Given the description of an element on the screen output the (x, y) to click on. 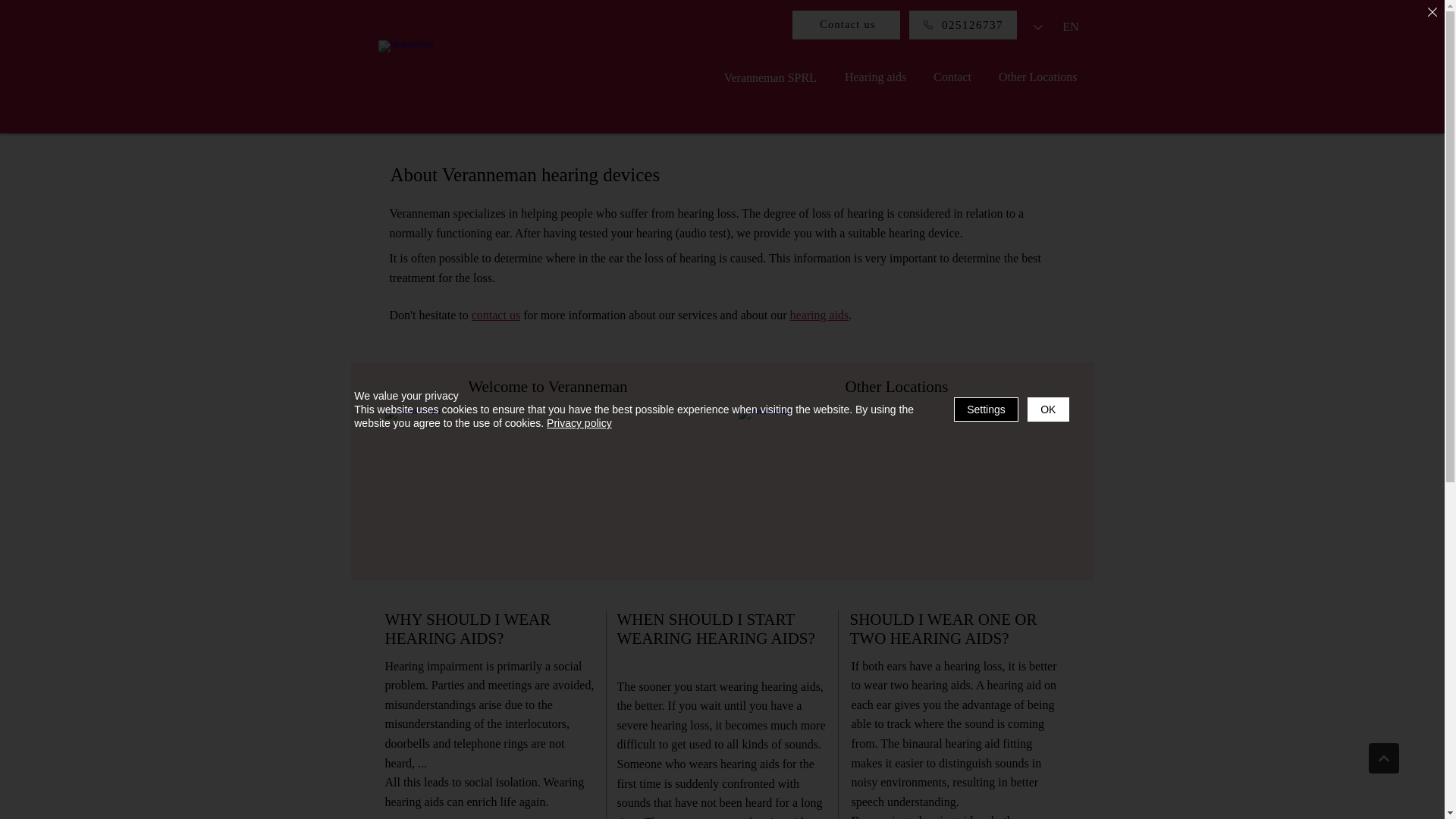
Privacy policy Element type: text (578, 423)
OK Element type: text (1048, 409)
contact us Element type: text (495, 314)
Contact us Element type: text (845, 24)
hearing aids Element type: text (819, 314)
Other Locations Element type: text (1037, 77)
Settings Element type: text (985, 409)
Hearing aids Element type: text (875, 77)
Contact Element type: text (952, 77)
025126737 Element type: text (962, 24)
Veranneman SPRL Element type: text (770, 77)
